Given the description of an element on the screen output the (x, y) to click on. 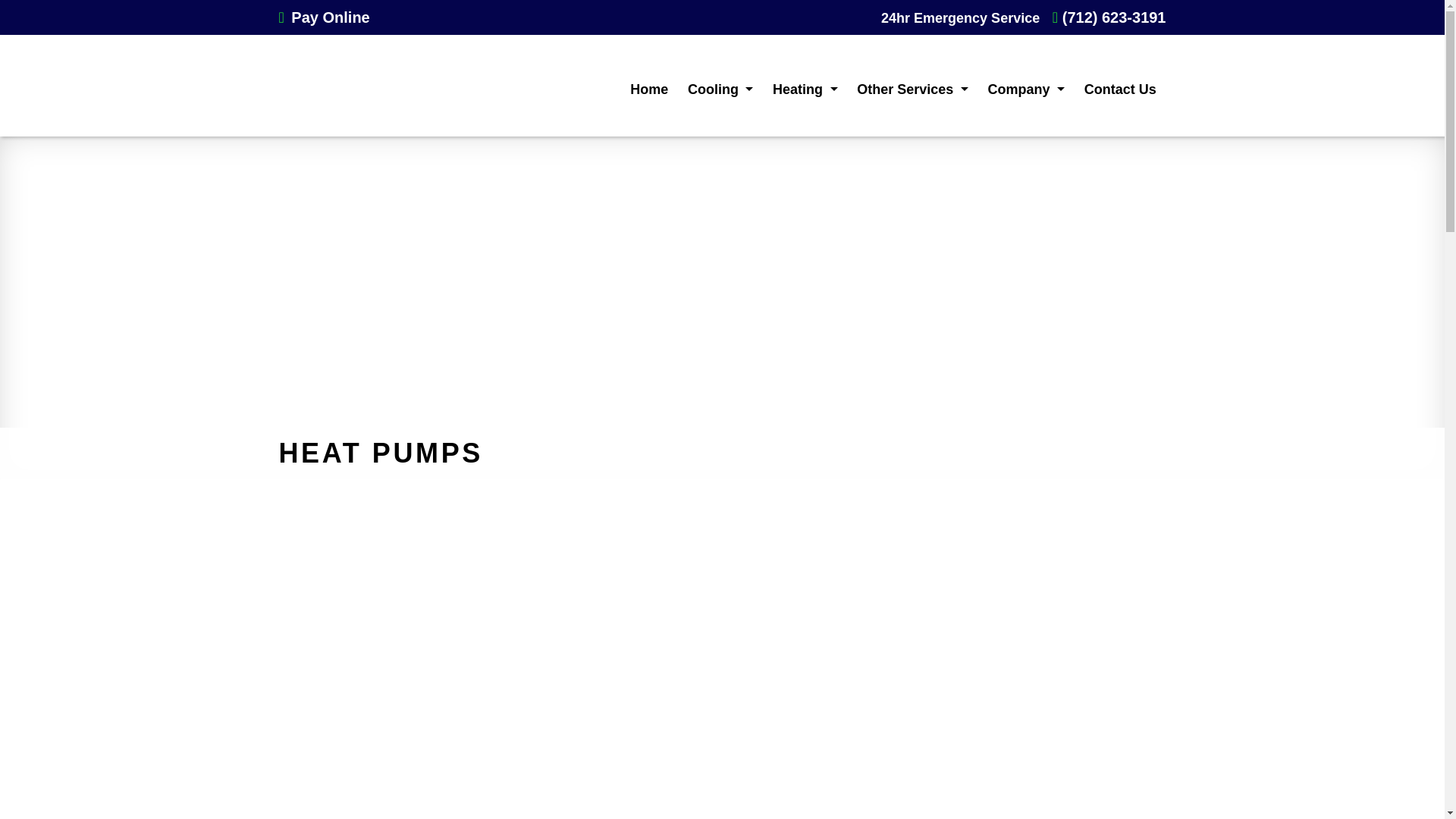
Company (1026, 89)
Pay Online (324, 17)
Home (649, 89)
Heating (804, 89)
Cooling (720, 89)
Other Services (911, 89)
